Given the description of an element on the screen output the (x, y) to click on. 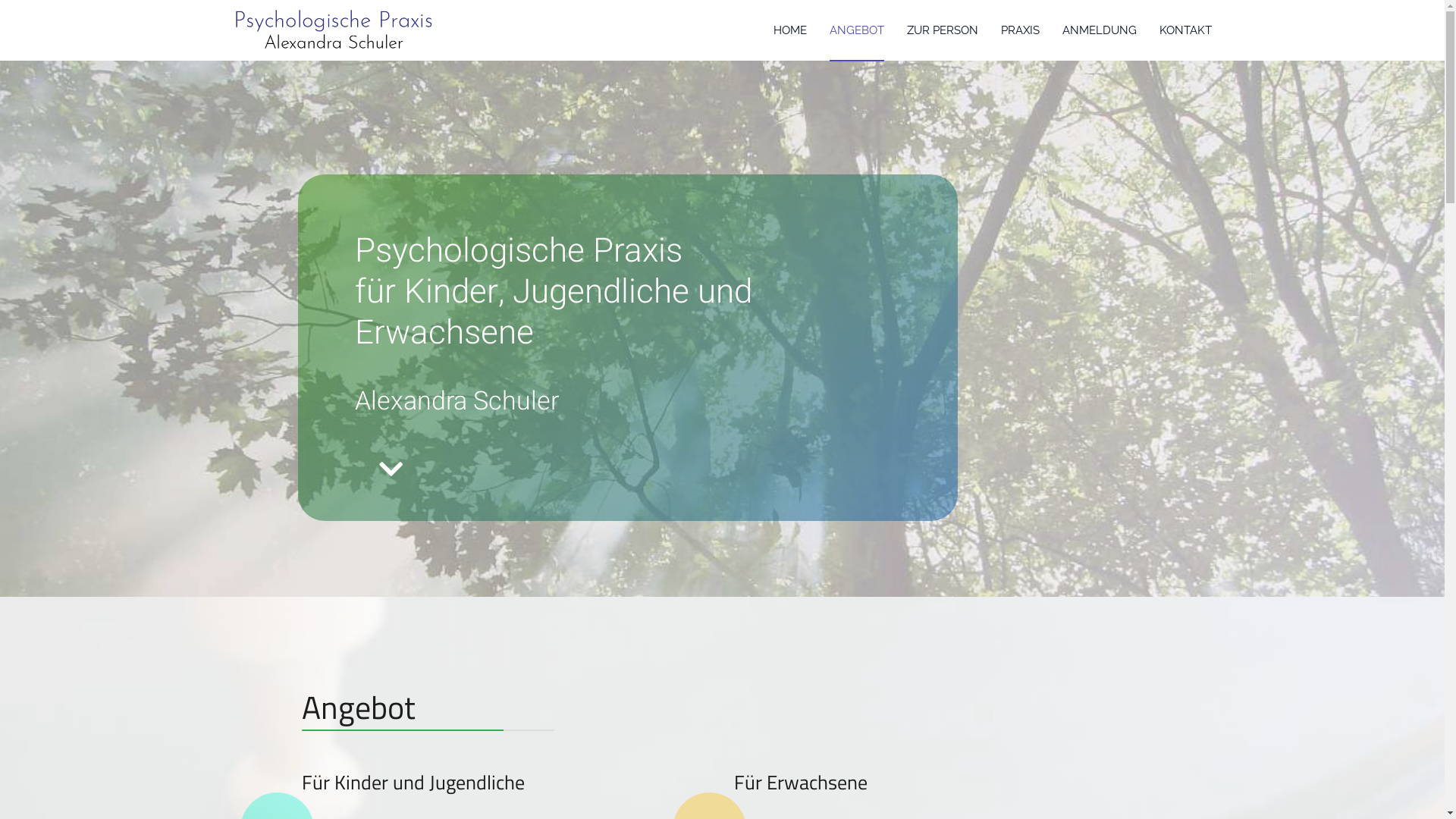
HOME Element type: text (789, 30)
KONTAKT Element type: text (1185, 30)
ANGEBOT Element type: text (855, 30)
PRAXIS Element type: text (1019, 30)
ZUR PERSON Element type: text (941, 30)
ANMELDUNG Element type: text (1099, 30)
